Given the description of an element on the screen output the (x, y) to click on. 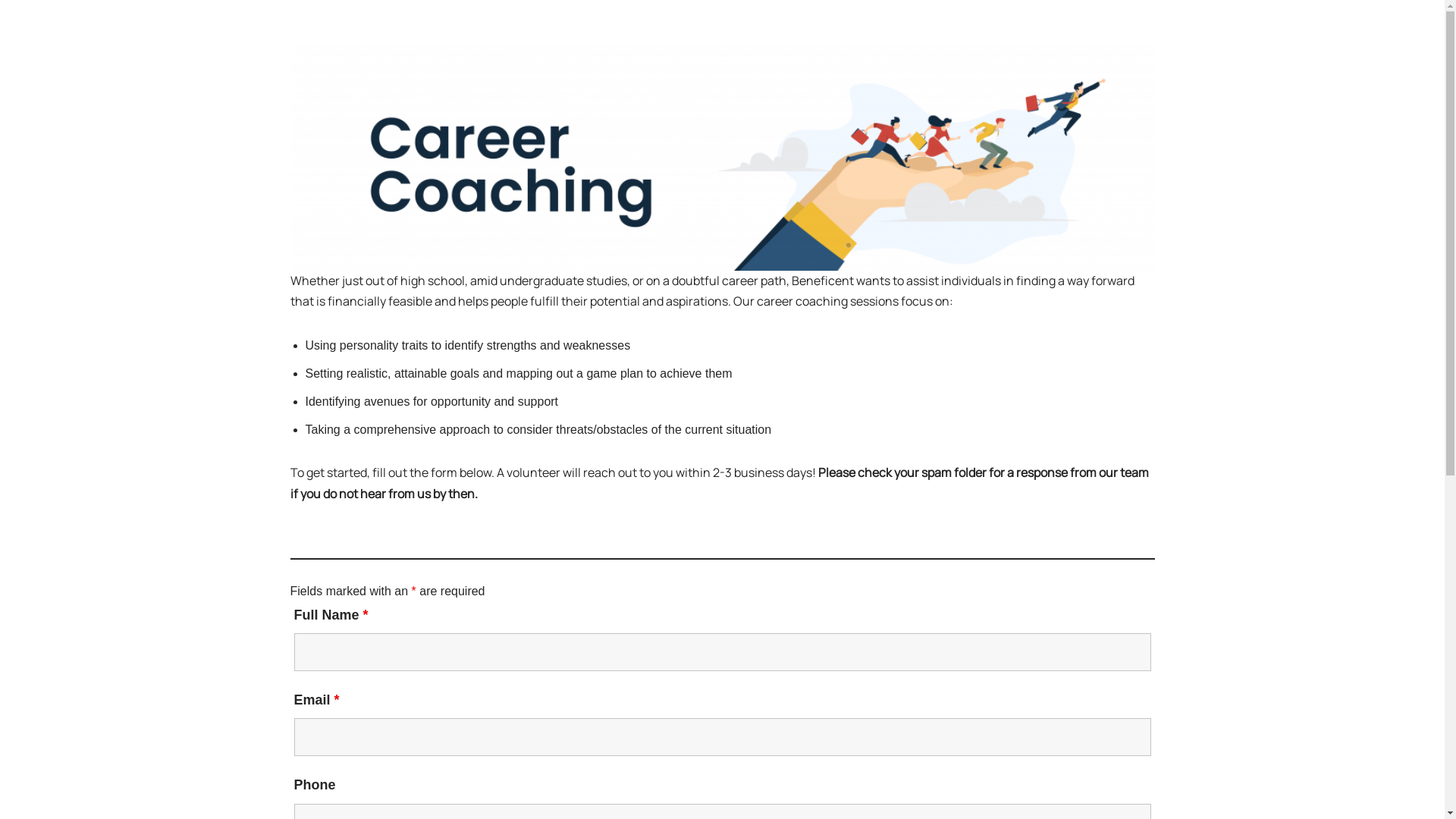
Skip to content Element type: text (11, 31)
